Given the description of an element on the screen output the (x, y) to click on. 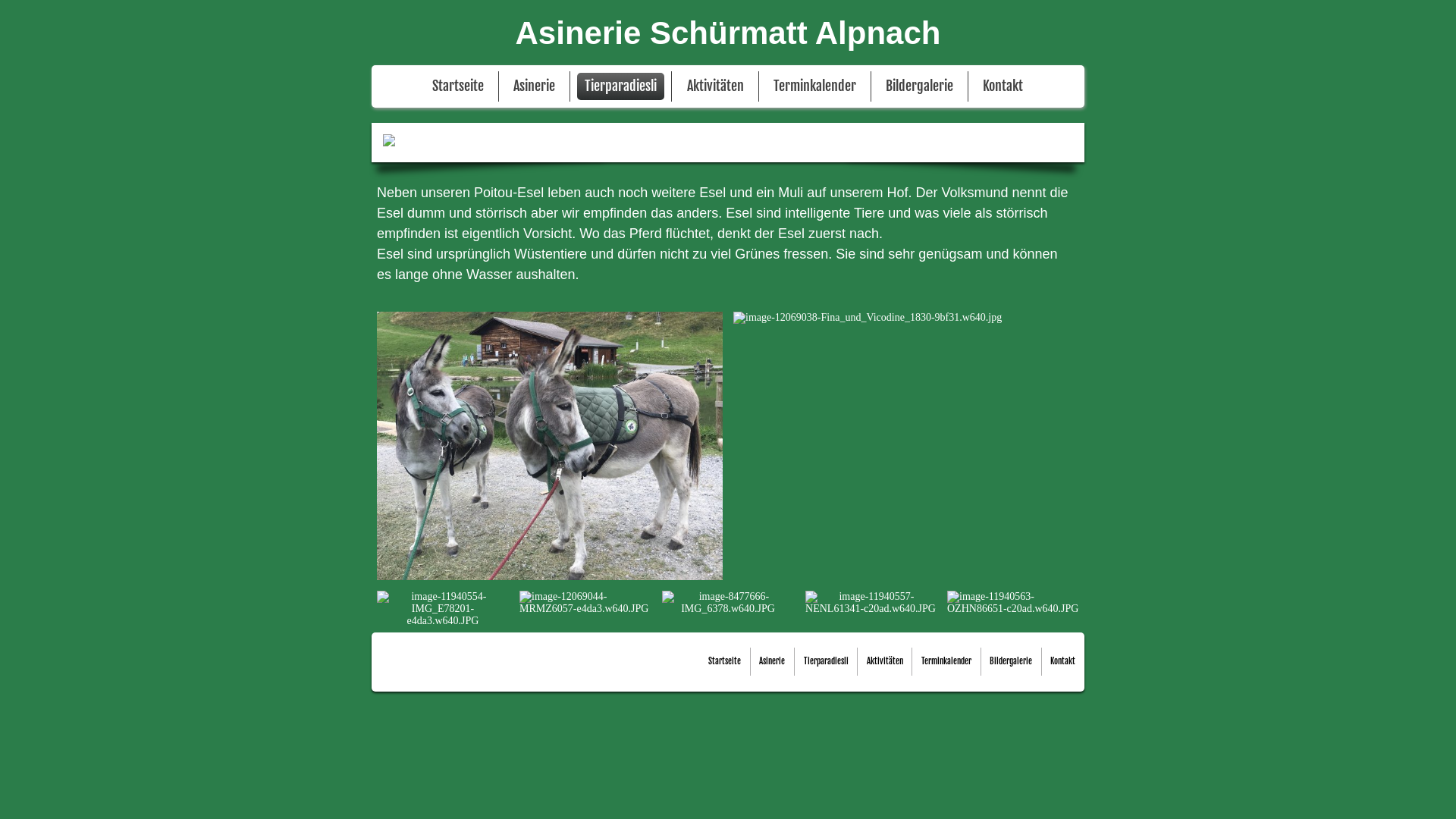
Startseite Element type: text (724, 661)
Bildergalerie Element type: text (919, 86)
Terminkalender Element type: text (814, 86)
Startseite Element type: text (457, 86)
Kontakt Element type: text (1062, 661)
Asinerie Element type: text (771, 661)
Terminkalender Element type: text (945, 661)
Bildergalerie Element type: text (1010, 661)
Tierparadiesli Element type: text (826, 661)
Tierparadiesli Element type: text (620, 86)
Asinerie Element type: text (533, 86)
Kontakt Element type: text (1002, 86)
